Given the description of an element on the screen output the (x, y) to click on. 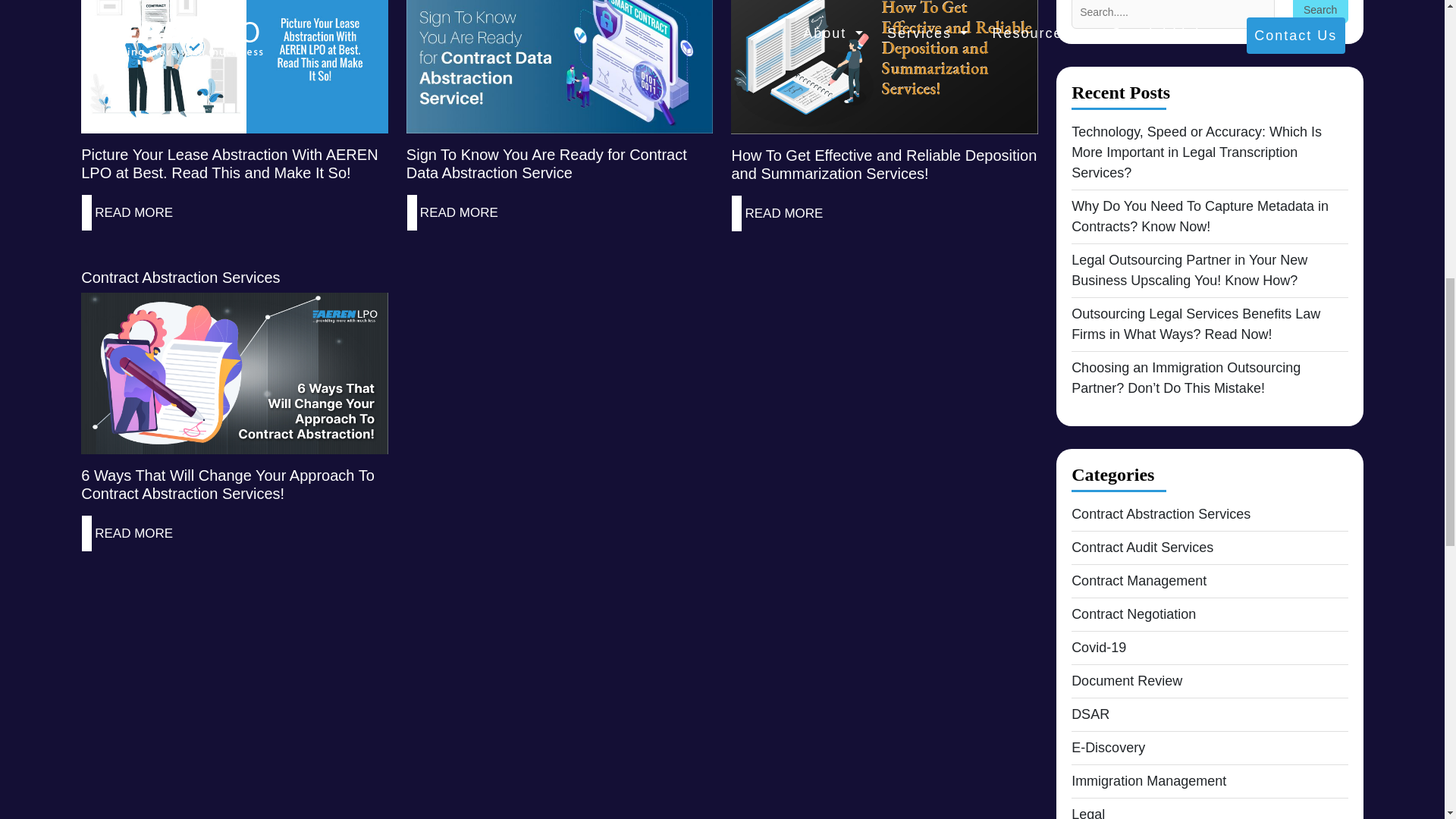
Search (1320, 11)
READ MORE (133, 212)
READ MORE (459, 212)
Search (1320, 11)
